Given the description of an element on the screen output the (x, y) to click on. 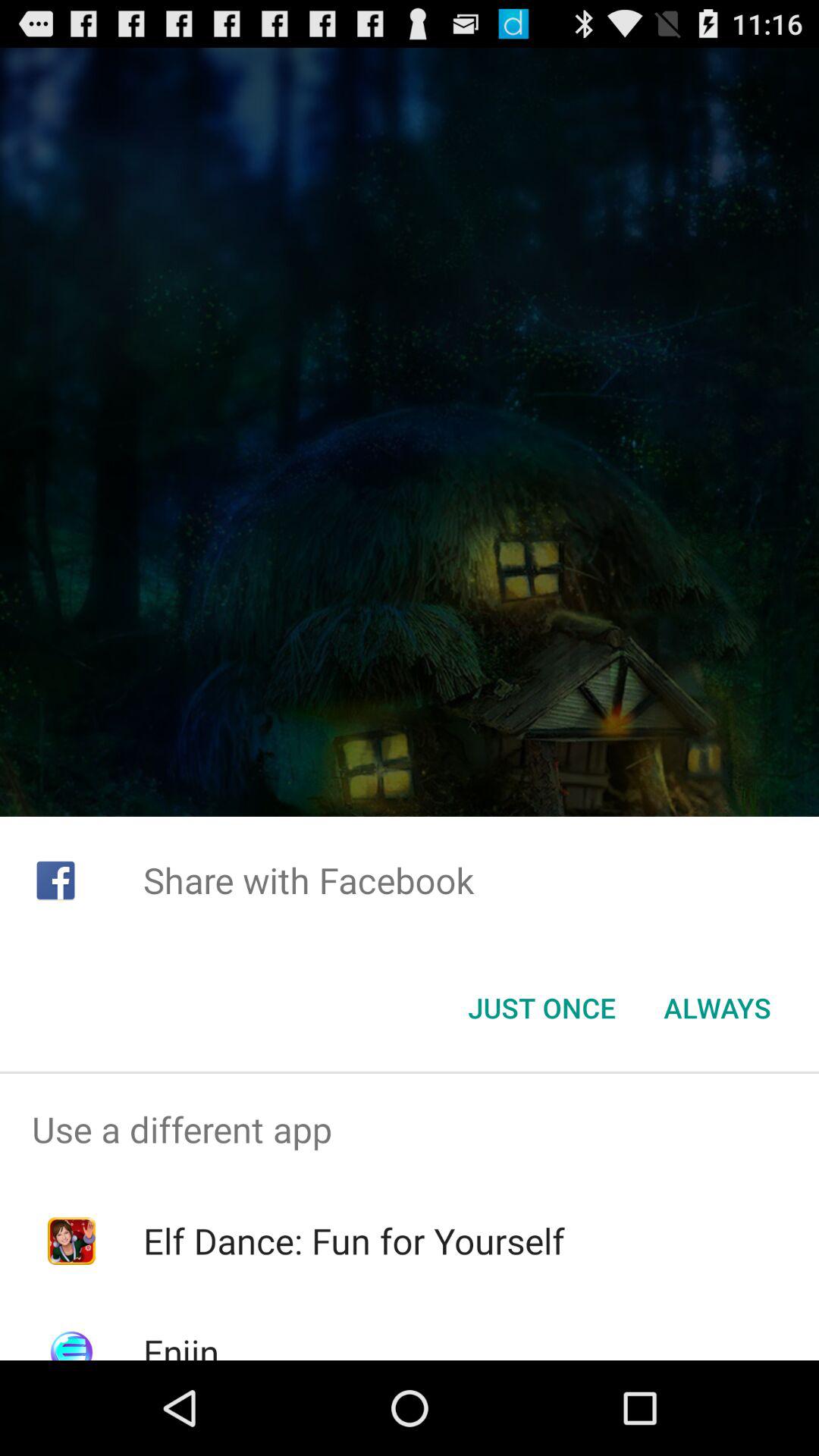
scroll until just once item (541, 1007)
